Given the description of an element on the screen output the (x, y) to click on. 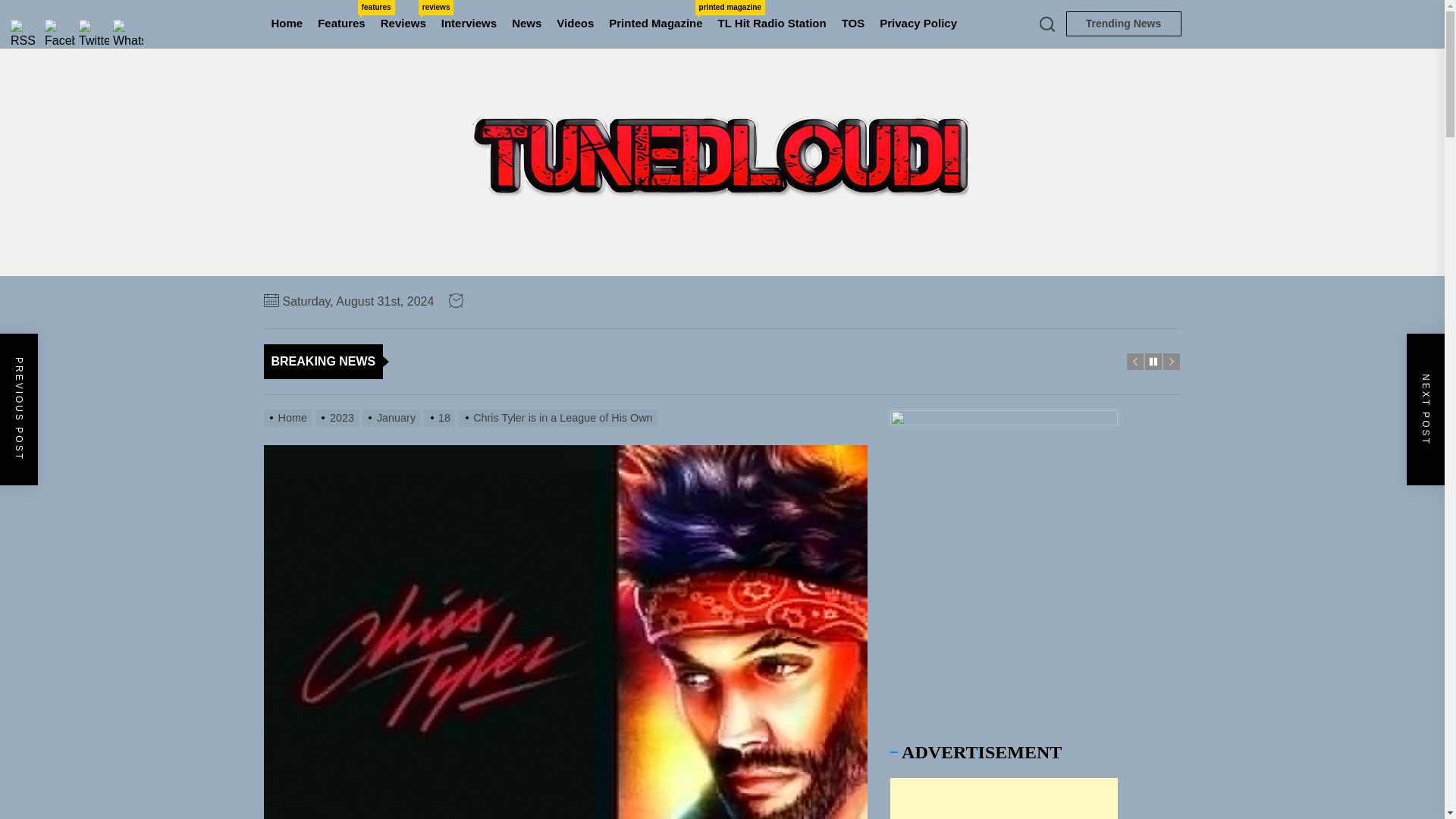
TL Hit Radio Station (772, 23)
News (402, 23)
Interviews (525, 23)
Trending News (655, 23)
Privacy Policy (468, 23)
Videos (1122, 23)
Home (917, 23)
